Given the description of an element on the screen output the (x, y) to click on. 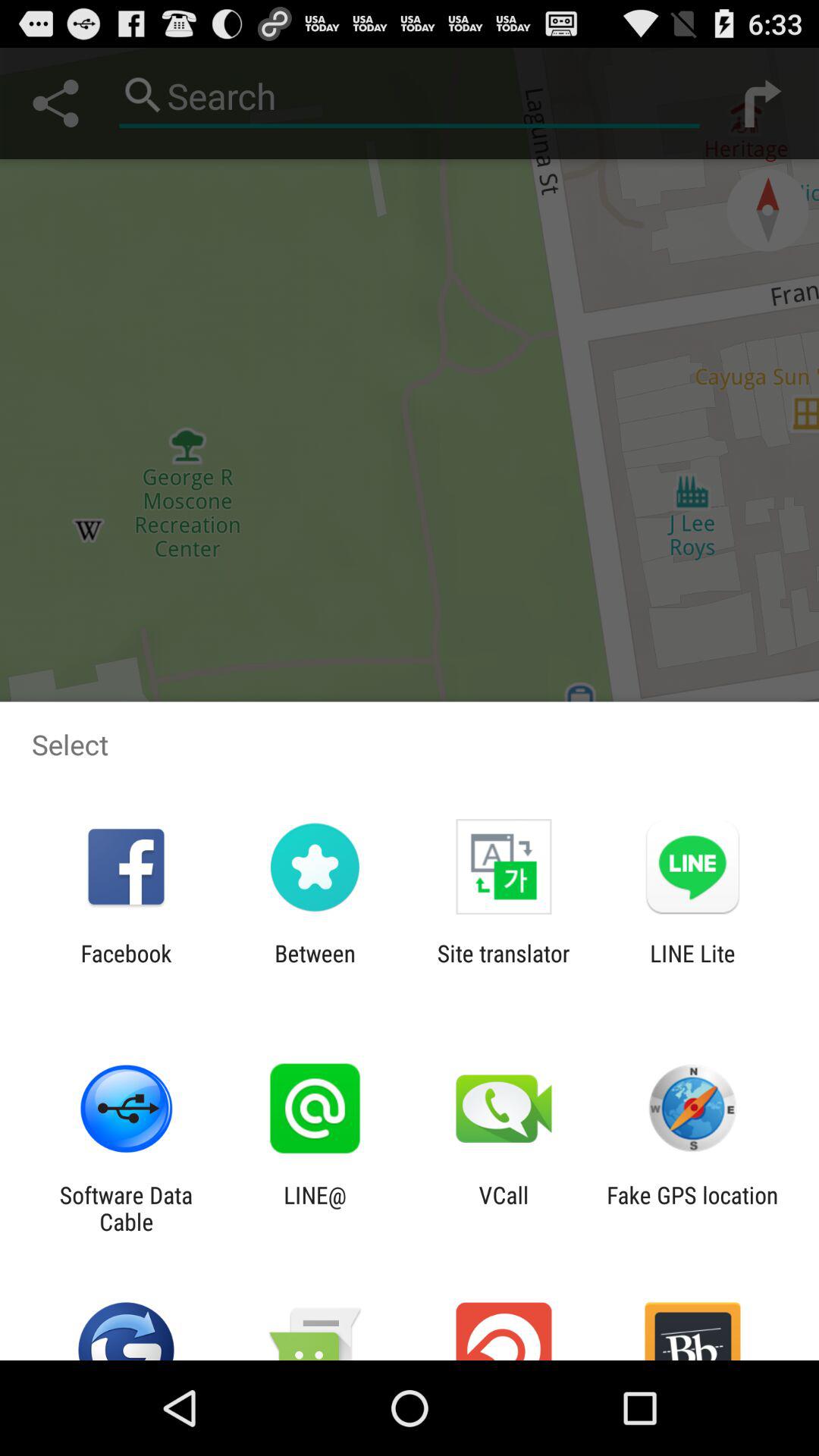
choose the app to the right of the site translator (692, 966)
